Given the description of an element on the screen output the (x, y) to click on. 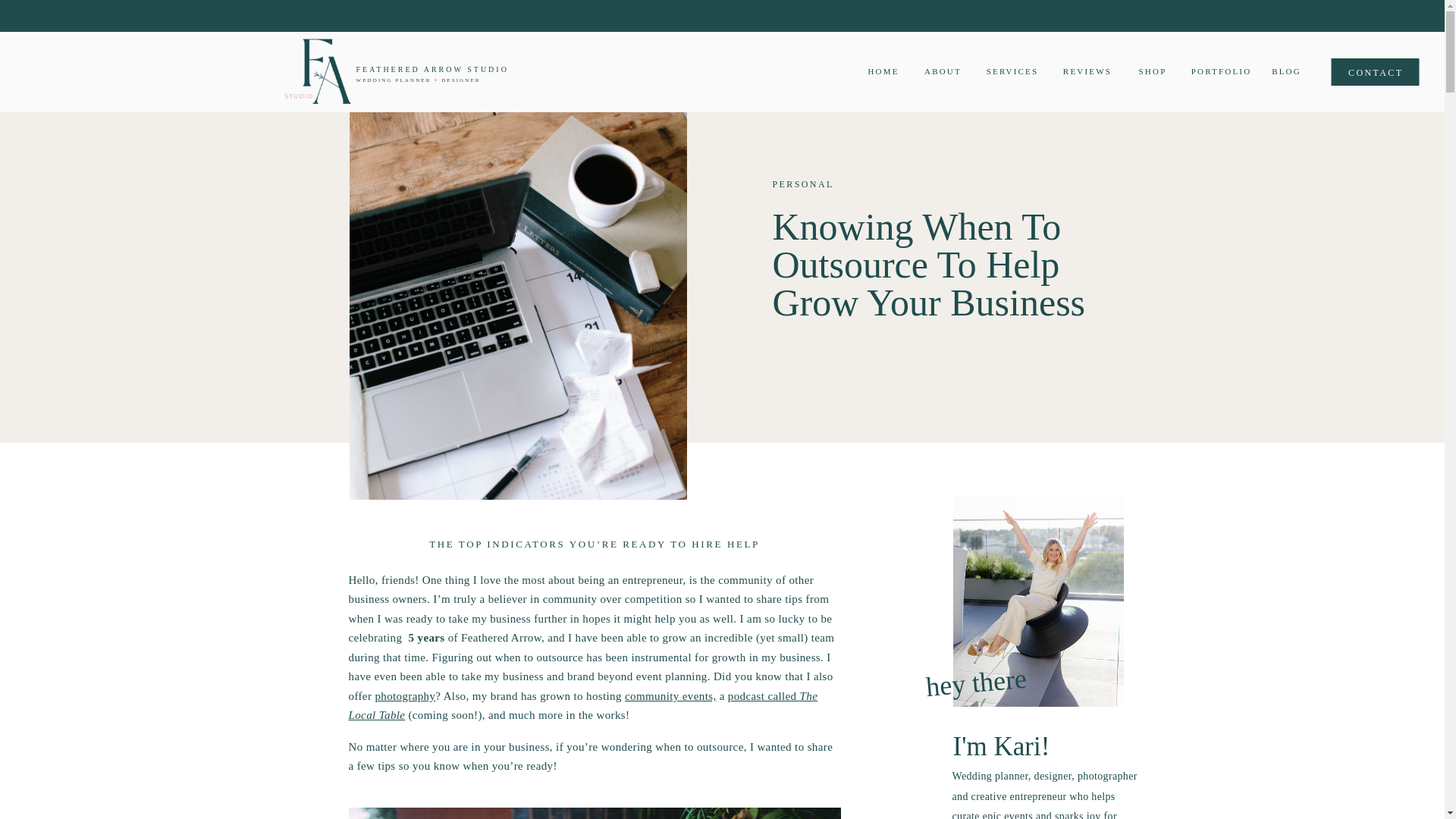
HOME (883, 72)
SHOP (1152, 71)
CONTACT (1375, 74)
SERVICES (1011, 71)
REVIEWS (1086, 71)
ABOUT (942, 70)
PORTFOLIO (1221, 71)
FEATHERED ARROW STUDIO (601, 75)
PERSONAL (801, 184)
BLOG (1286, 73)
